Given the description of an element on the screen output the (x, y) to click on. 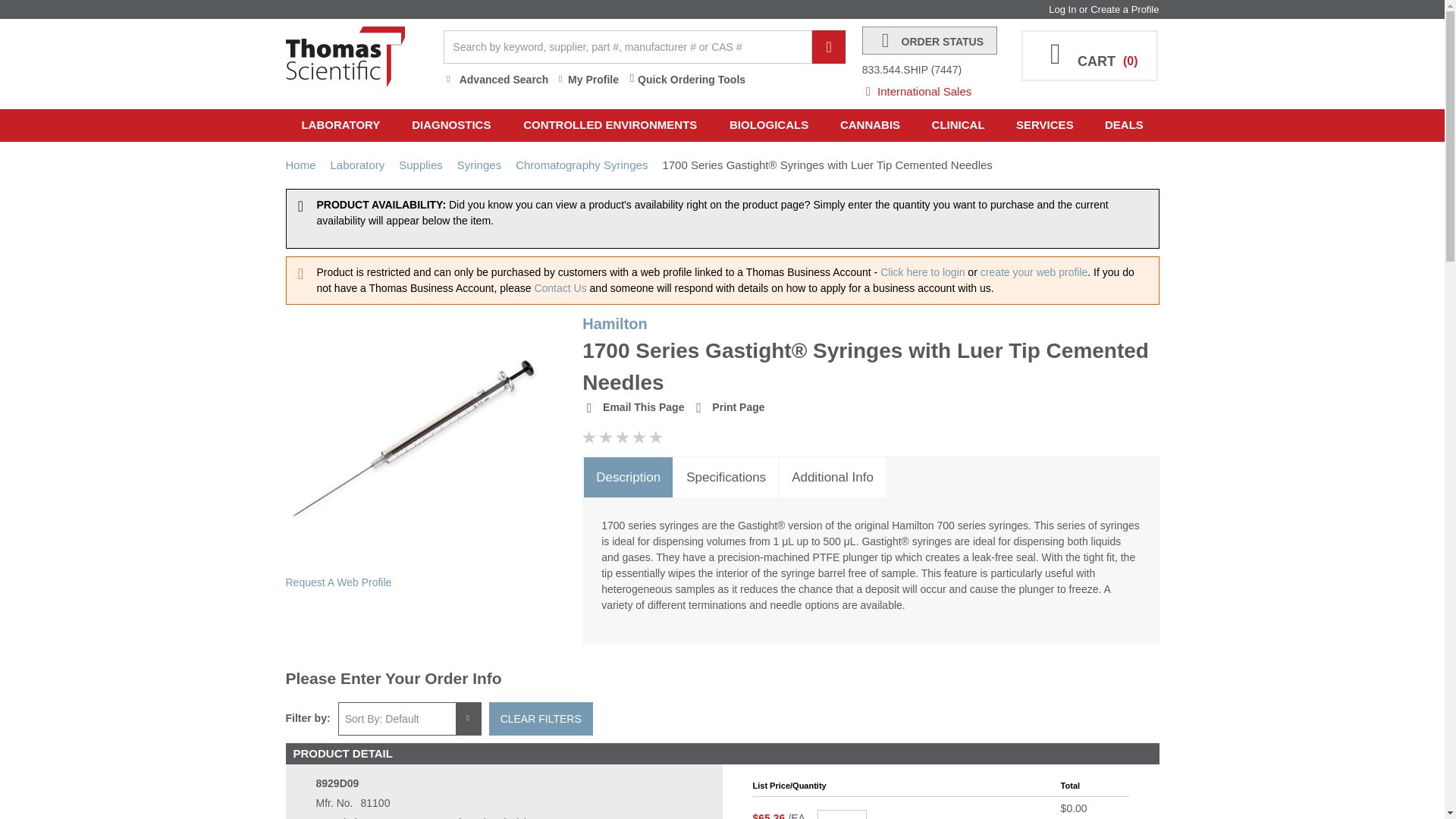
Register for a web profile at Thomas Scientific (1124, 9)
Create a Profile (1124, 9)
0 (841, 814)
Shopping Cart (1089, 55)
Perform a detailed search with advanced filters (496, 79)
ORDER STATUS (929, 40)
My Profile (587, 79)
International Sales (934, 87)
GO (828, 46)
